Given the description of an element on the screen output the (x, y) to click on. 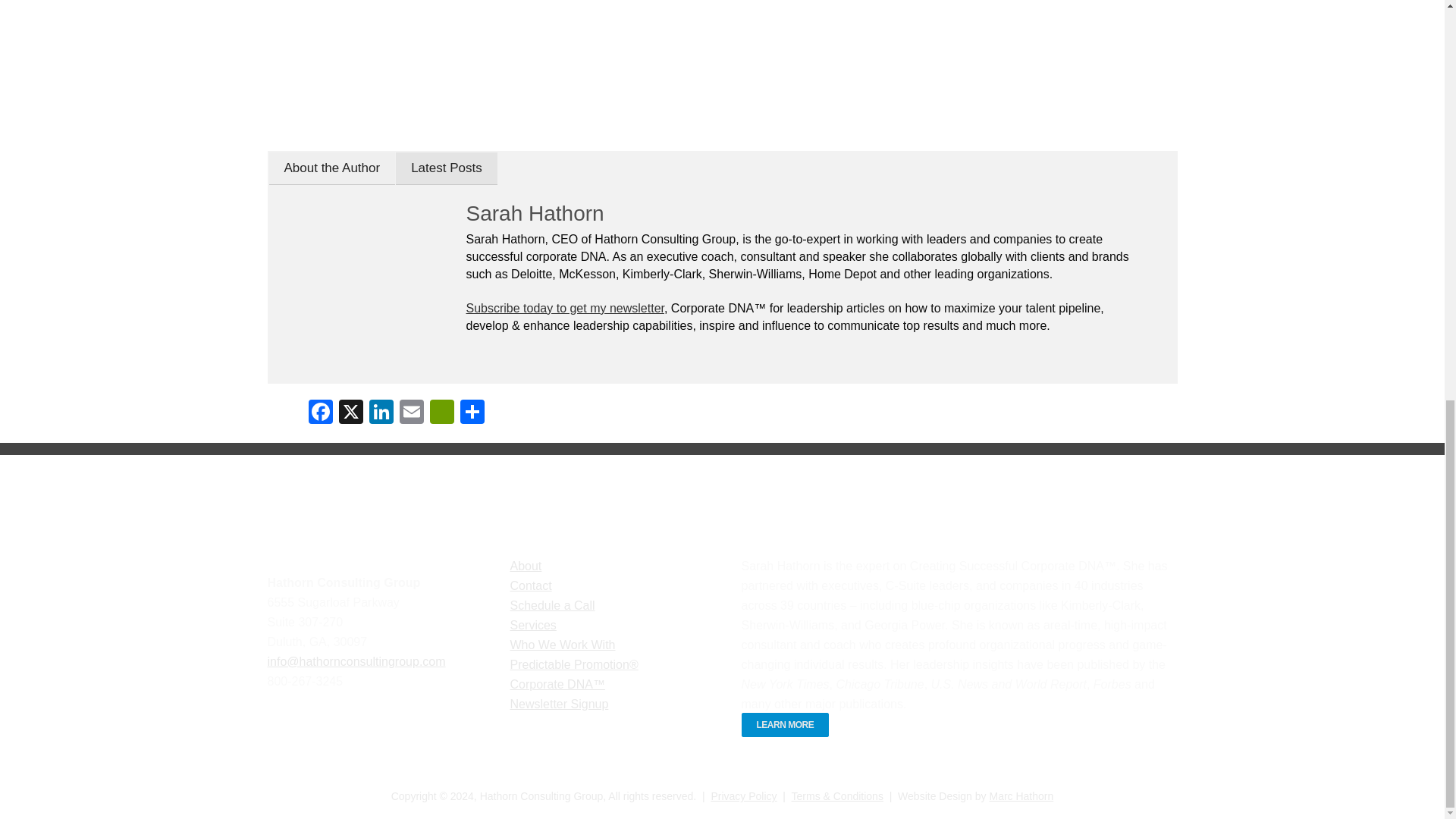
LinkedIn (380, 413)
Facebook (319, 413)
PrintFriendly (441, 413)
X (349, 413)
Email (411, 413)
